Given the description of an element on the screen output the (x, y) to click on. 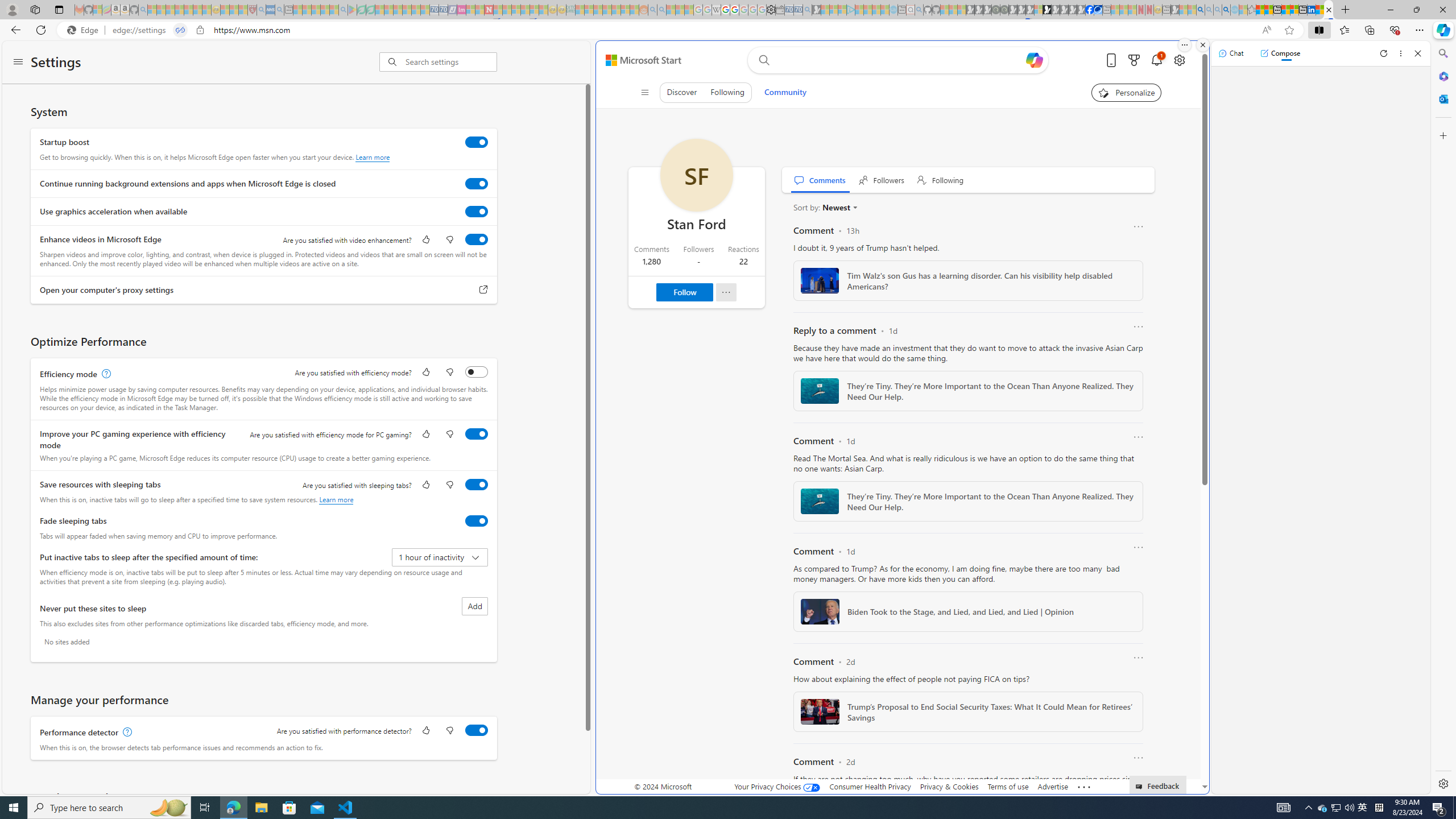
Nordace | Facebook (1089, 9)
AQI & Health | AirNow.gov (1098, 9)
Class: cwt-icon-vector (854, 207)
 Comments (820, 179)
Performance detector (476, 730)
